Given the description of an element on the screen output the (x, y) to click on. 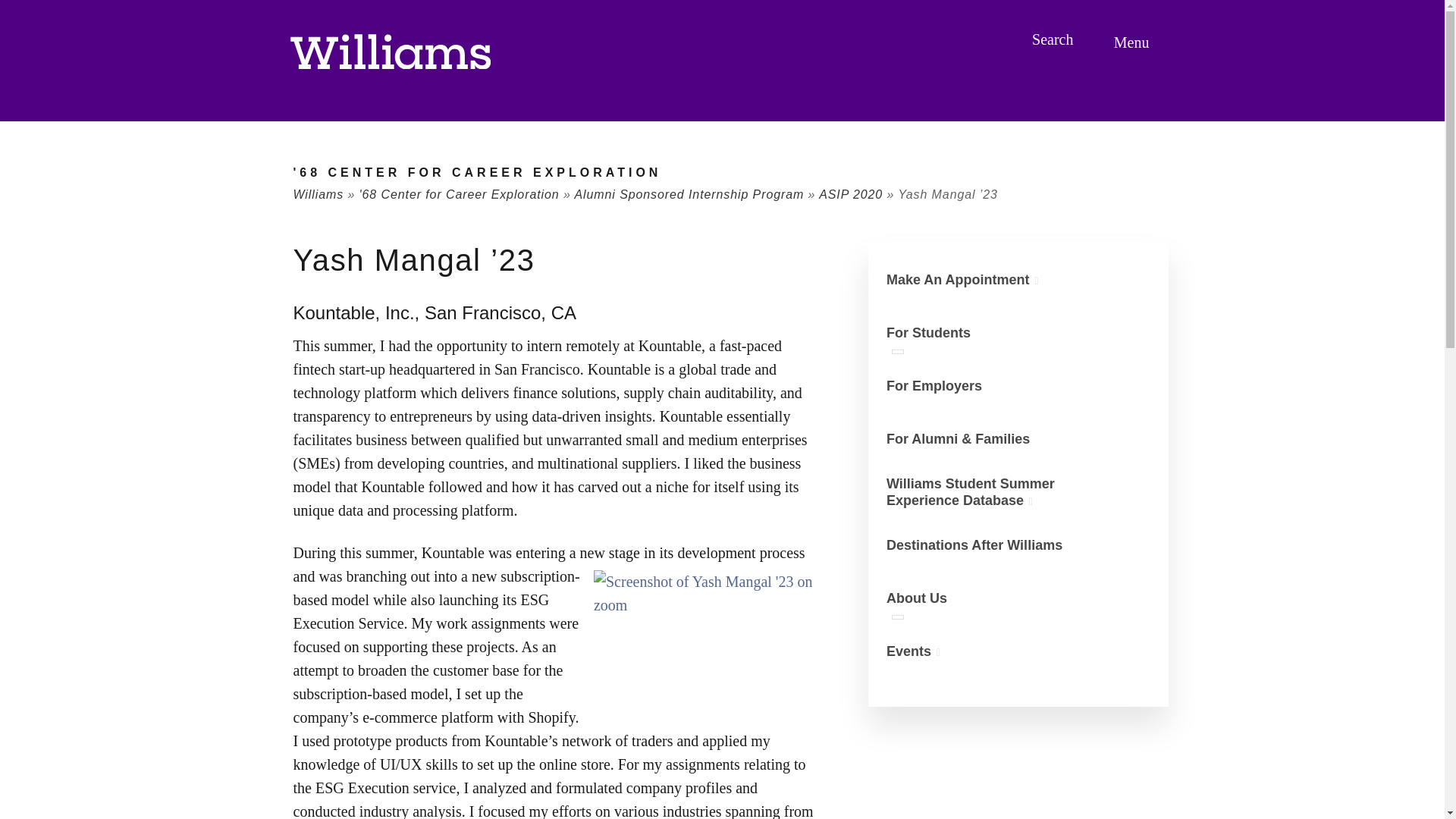
Menu (1134, 41)
Go to Williams College Home (389, 51)
Search (1054, 38)
